Given the description of an element on the screen output the (x, y) to click on. 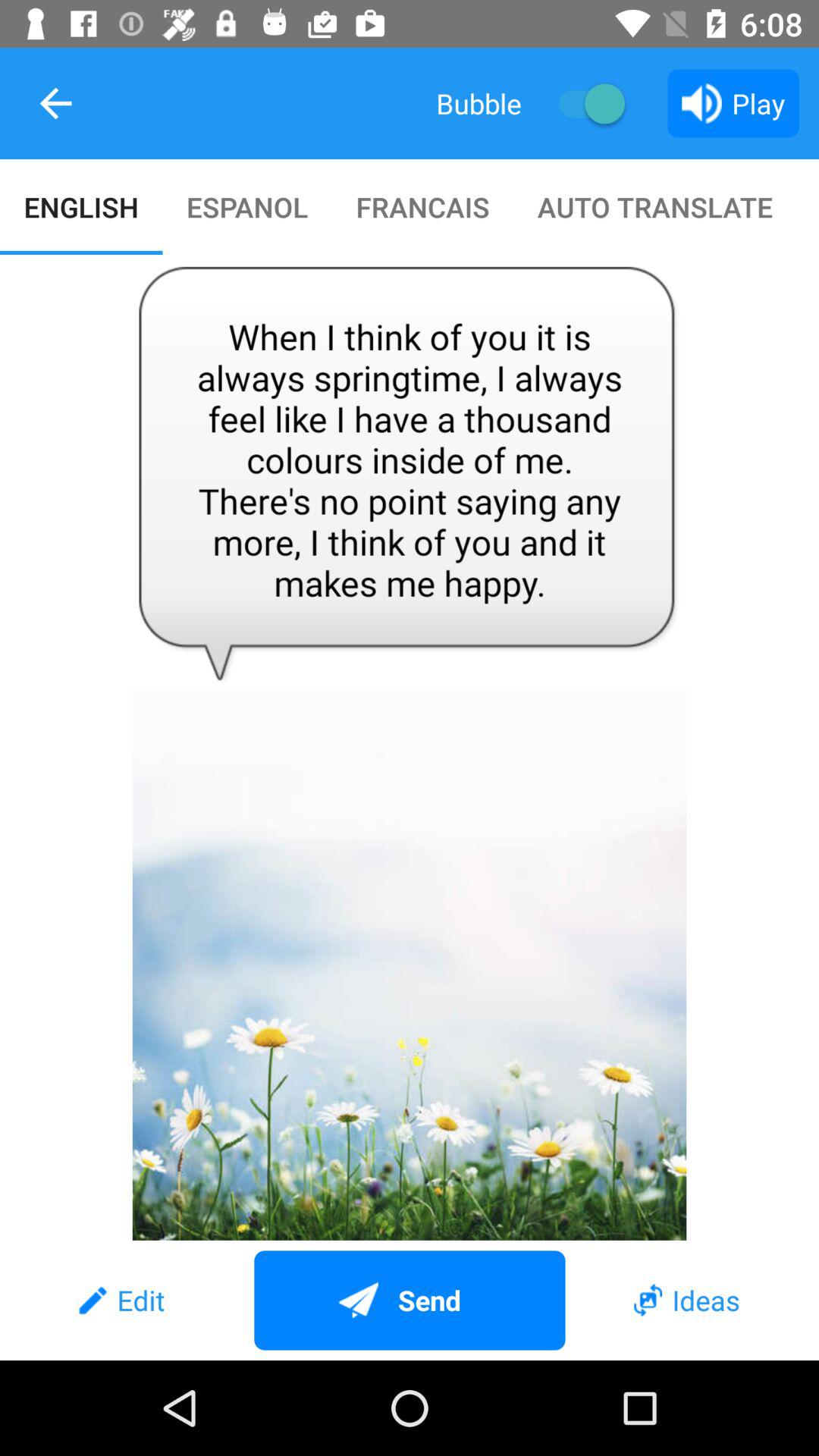
choose the item next to the bubble icon (584, 103)
